Given the description of an element on the screen output the (x, y) to click on. 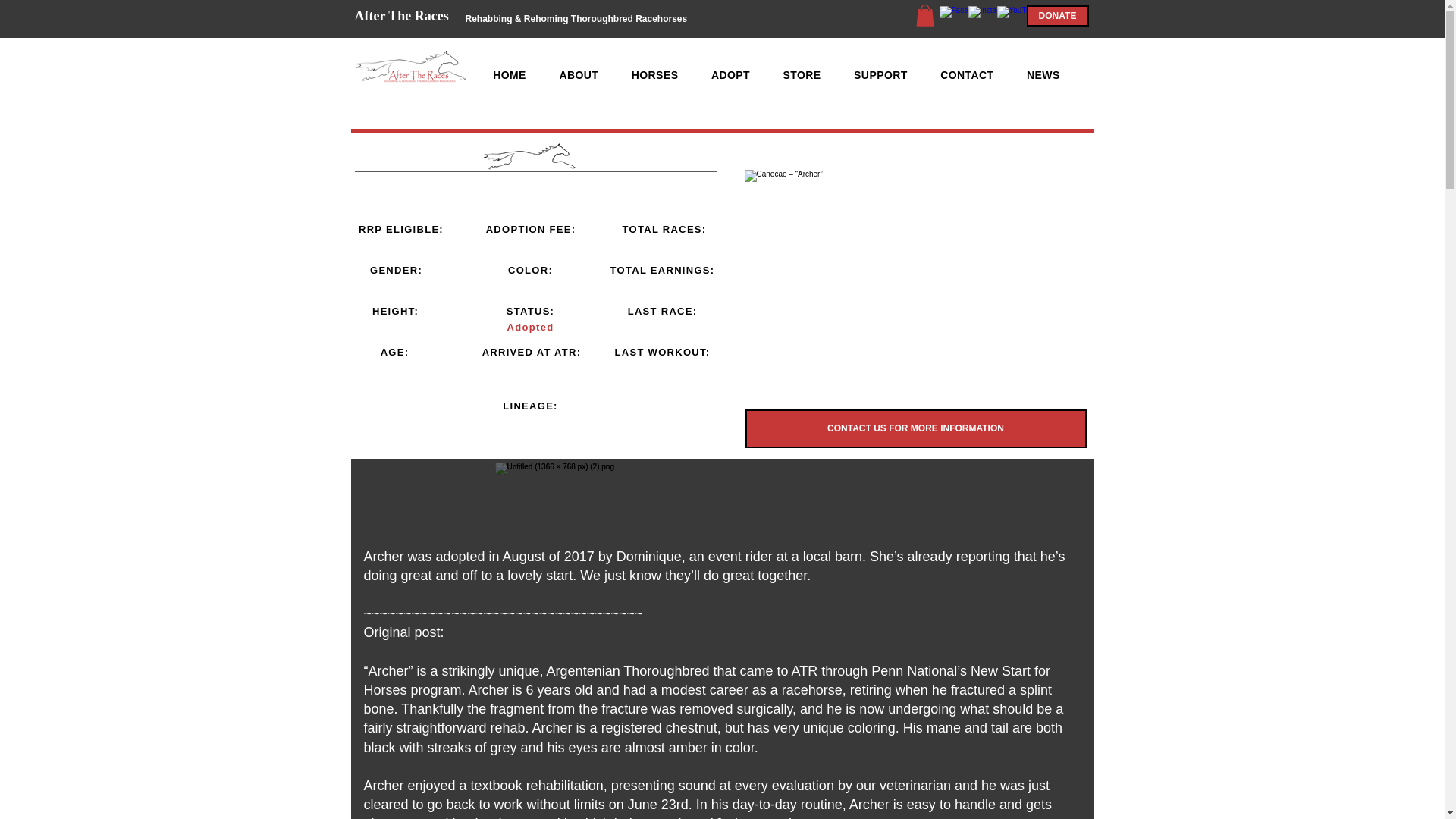
DONATE (1057, 15)
CONTACT US FOR MORE INFORMATION (915, 428)
CONTACT (966, 74)
STORE (802, 74)
ADOPT (730, 74)
HOME (508, 74)
ABOUT (578, 74)
NEWS (1042, 74)
SUPPORT (880, 74)
HORSES (654, 74)
